Given the description of an element on the screen output the (x, y) to click on. 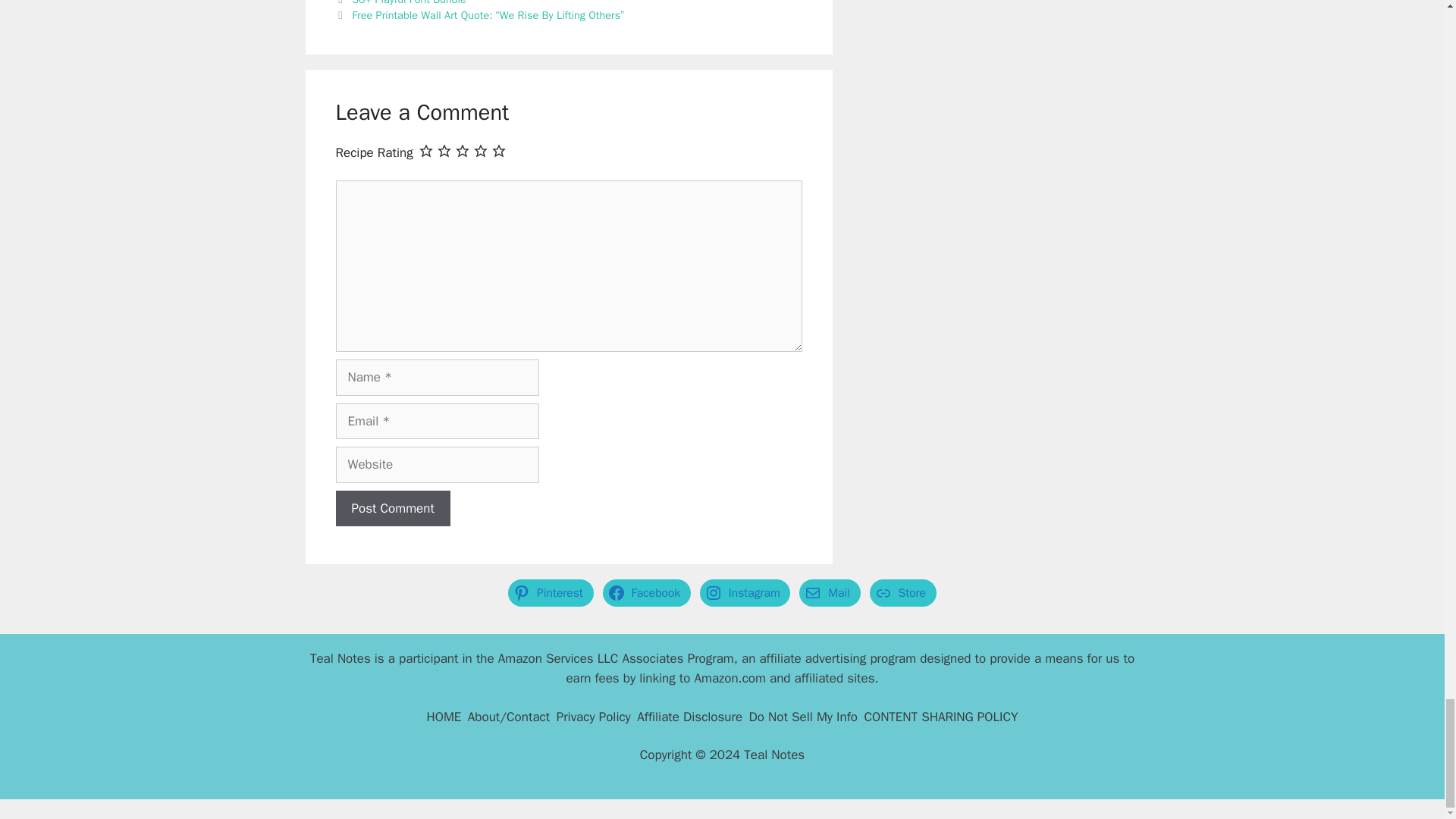
Privacy Policy (593, 717)
HOME (443, 717)
Store (902, 592)
Post Comment (391, 508)
Post Comment (391, 508)
Facebook (646, 592)
CONTENT SHARING POLICY (940, 717)
Affiliate Disclosure (689, 717)
Do Not Sell My Info (803, 717)
Pinterest (550, 592)
Mail (829, 592)
Instagram (745, 592)
